Given the description of an element on the screen output the (x, y) to click on. 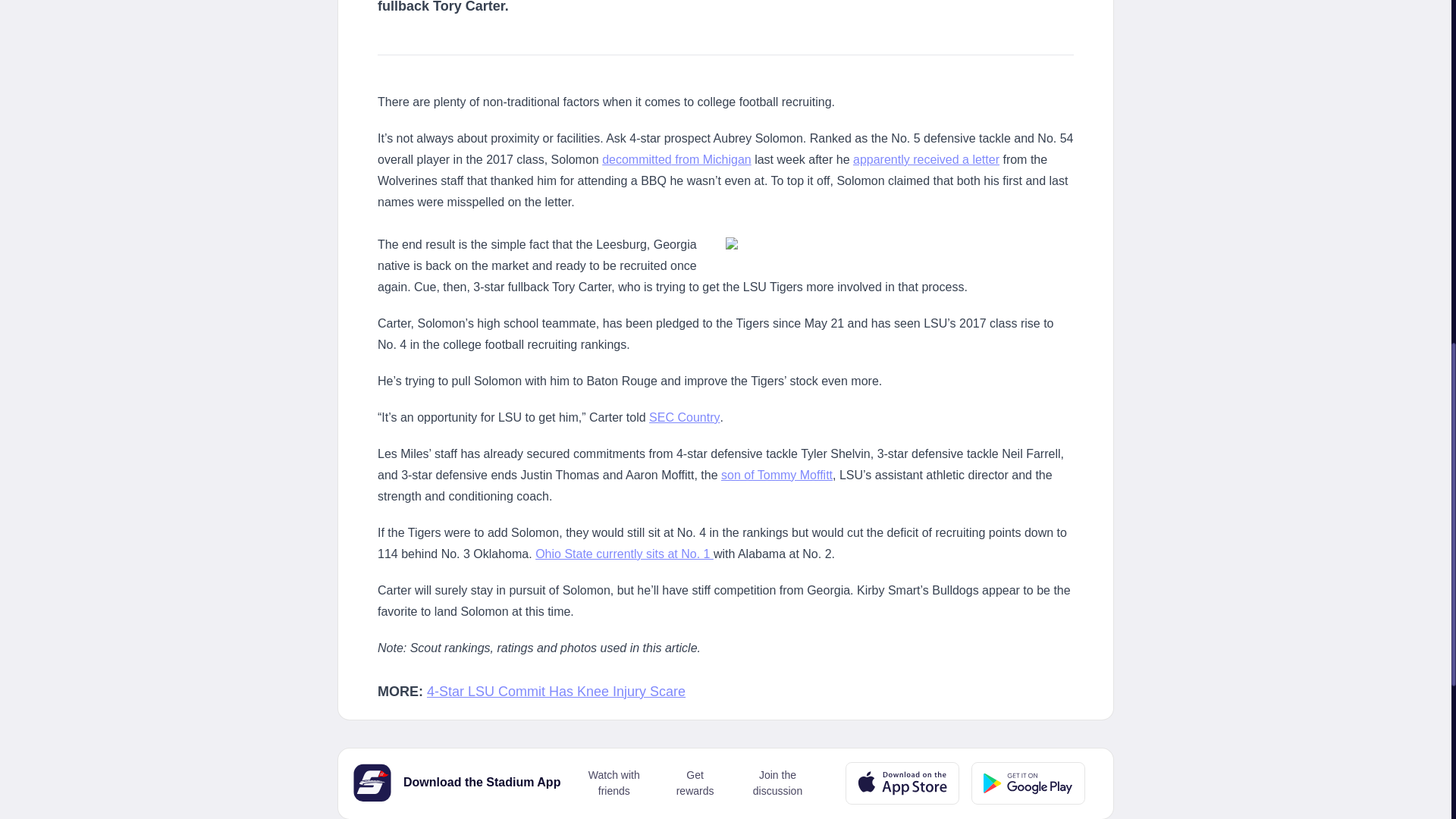
from Michigan (711, 159)
son of Tommy Moffitt (776, 474)
4-Star LSU Commit Has Knee Injury Scare (555, 691)
Ohio State currently sits at No. 1 (624, 553)
apparently received a letter (925, 159)
SEC Country (684, 417)
decommitted (636, 159)
